Given the description of an element on the screen output the (x, y) to click on. 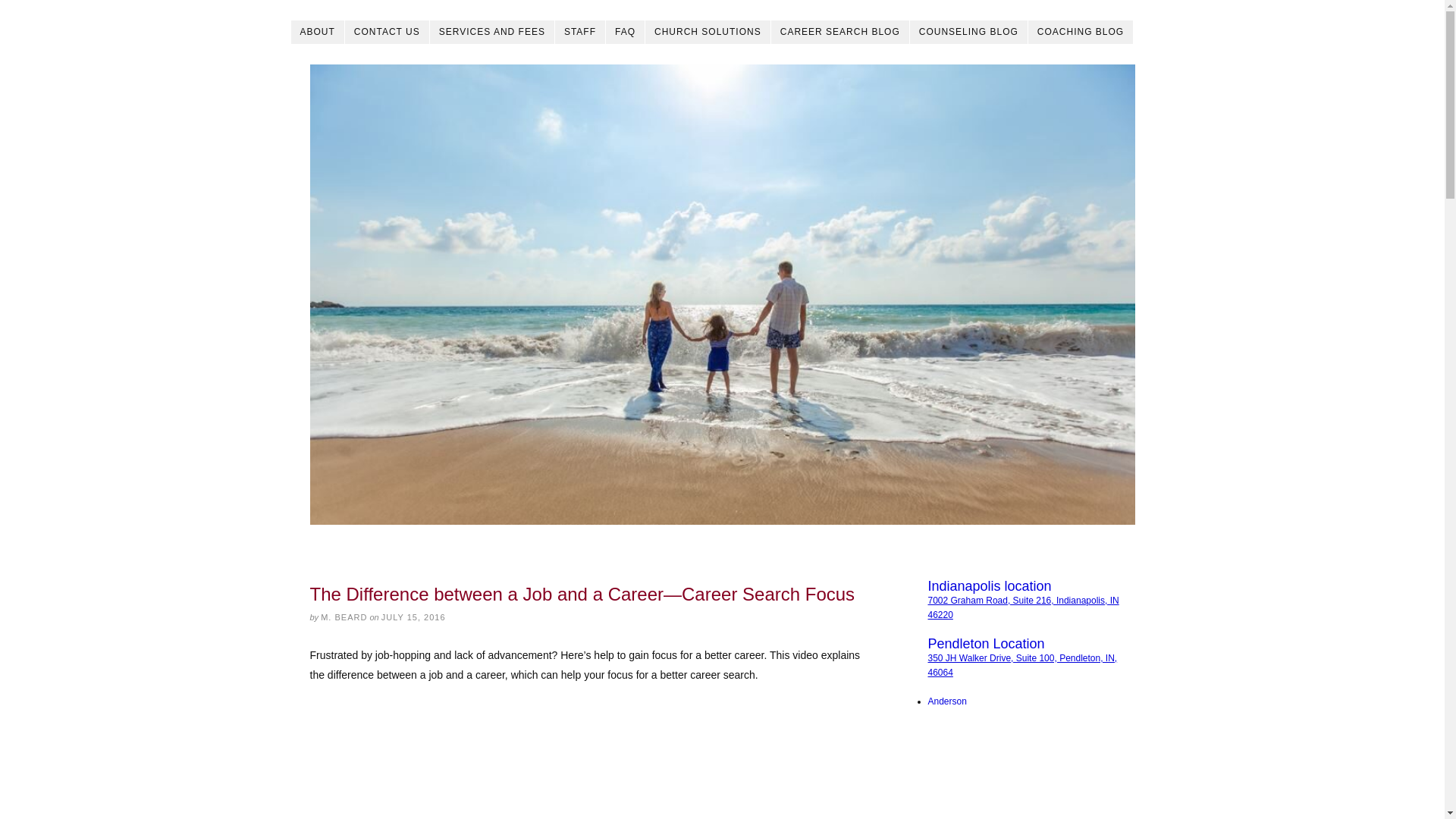
STAFF (579, 32)
COACHING BLOG (1080, 32)
350 JH Walker Drive, Suite 100, Pendleton, IN, 46064 (1023, 665)
COUNSELING BLOG (968, 32)
ABOUT (318, 32)
SERVICES AND FEES (491, 32)
Indianapolis location (989, 585)
2016-07-15 (413, 616)
FAQ (625, 32)
CAREER SEARCH BLOG (840, 32)
7002 Graham Road, Suite 216, Indianapolis, IN 46220 (1023, 607)
Pendleton Location (986, 643)
Anderson (947, 701)
CONTACT US (387, 32)
